Given the description of an element on the screen output the (x, y) to click on. 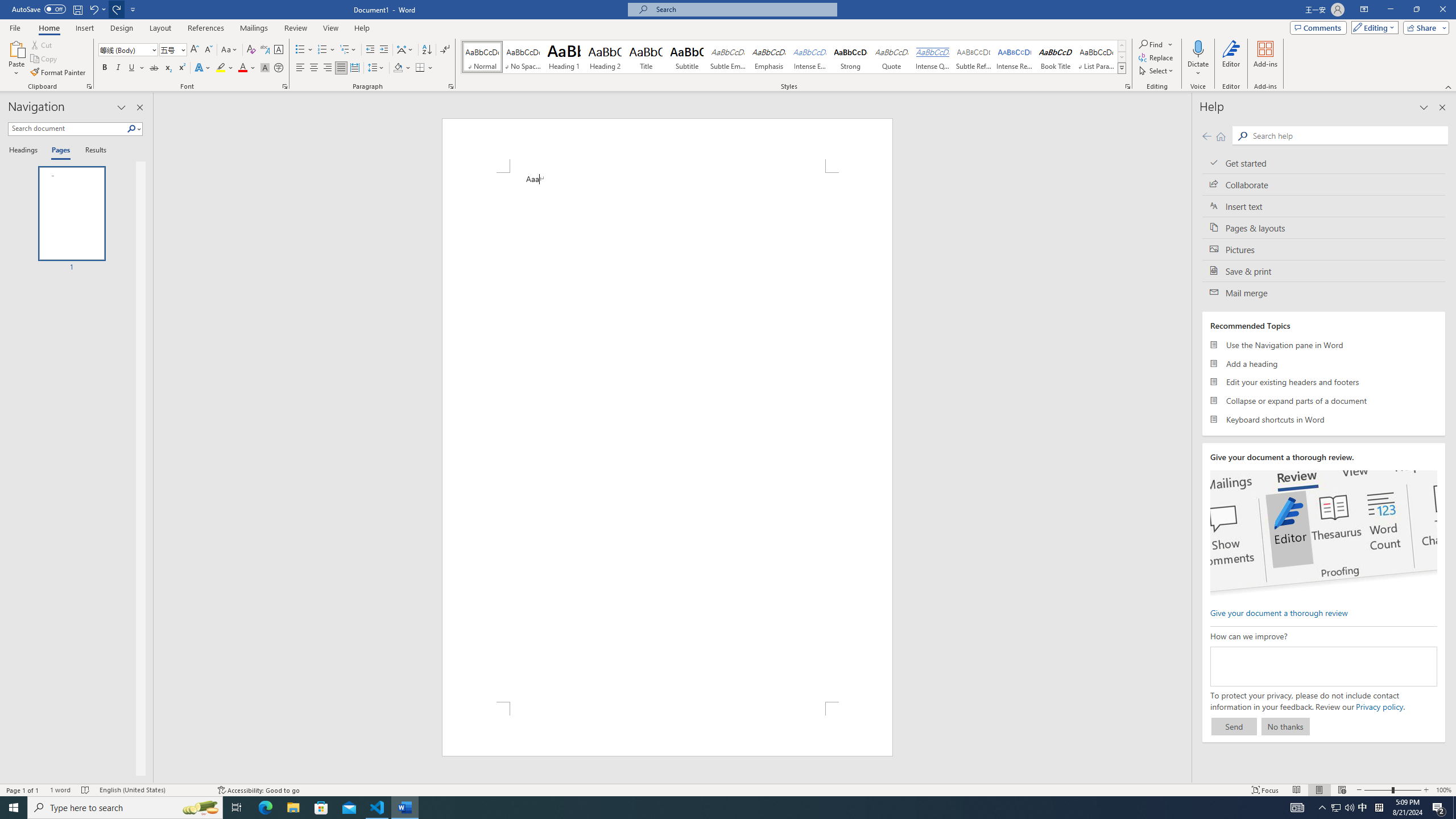
Pictures (1323, 249)
Strong (849, 56)
Pages & layouts (1323, 228)
Shading RGB(0, 0, 0) (397, 67)
Subscript (167, 67)
Intense Quote (932, 56)
Text Effects and Typography (202, 67)
Sort... (426, 49)
